Given the description of an element on the screen output the (x, y) to click on. 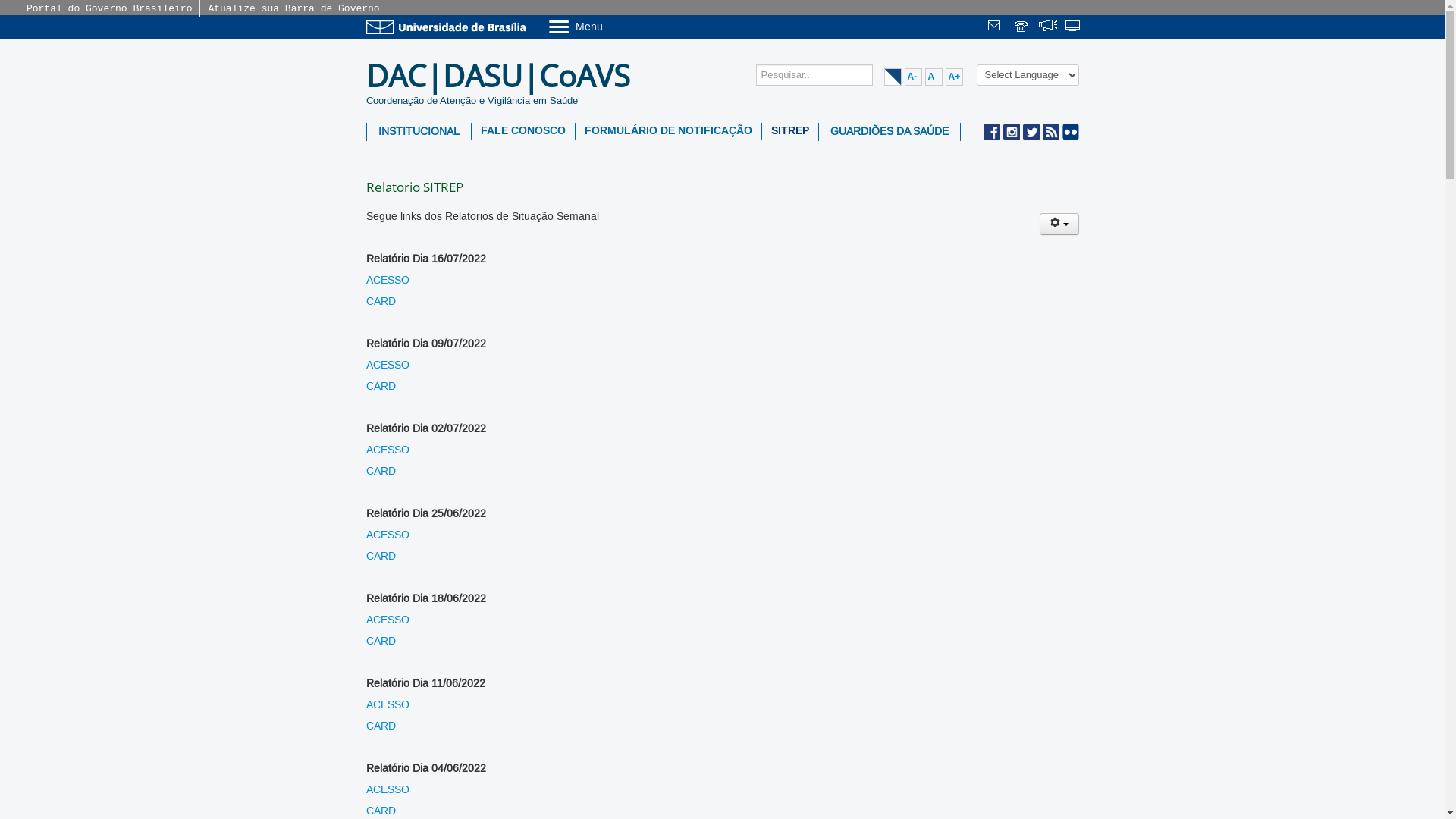
  Element type: text (1073, 27)
CARD Element type: text (380, 811)
  Element type: text (996, 27)
FALE CONOSCO Element type: text (522, 130)
  Element type: text (1047, 27)
A+ Element type: text (953, 76)
CARD Element type: text (380, 386)
SITREP Element type: text (789, 130)
Ir para o Portal da UnB Element type: hover (448, 26)
A- Element type: text (912, 76)
ACESSO Element type: text (386, 535)
Telefones da UnB Element type: hover (1022, 27)
Webmail Element type: hover (996, 27)
A Element type: text (933, 76)
CARD Element type: text (380, 301)
CARD Element type: text (380, 726)
Sistemas Element type: hover (1073, 27)
Menu Element type: text (613, 25)
ACESSO Element type: text (386, 280)
CARD Element type: text (380, 641)
Atualize sua Barra de Governo Element type: text (293, 8)
  Element type: text (1022, 27)
ACESSO Element type: text (386, 790)
ACESSO Element type: text (386, 450)
CARD Element type: text (380, 471)
ACESSO Element type: text (386, 365)
Portal do Governo Brasileiro Element type: text (108, 8)
CARD Element type: text (380, 556)
ACESSO Element type: text (386, 705)
Fala.BR Element type: hover (1047, 27)
ACESSO Element type: text (386, 620)
